Given the description of an element on the screen output the (x, y) to click on. 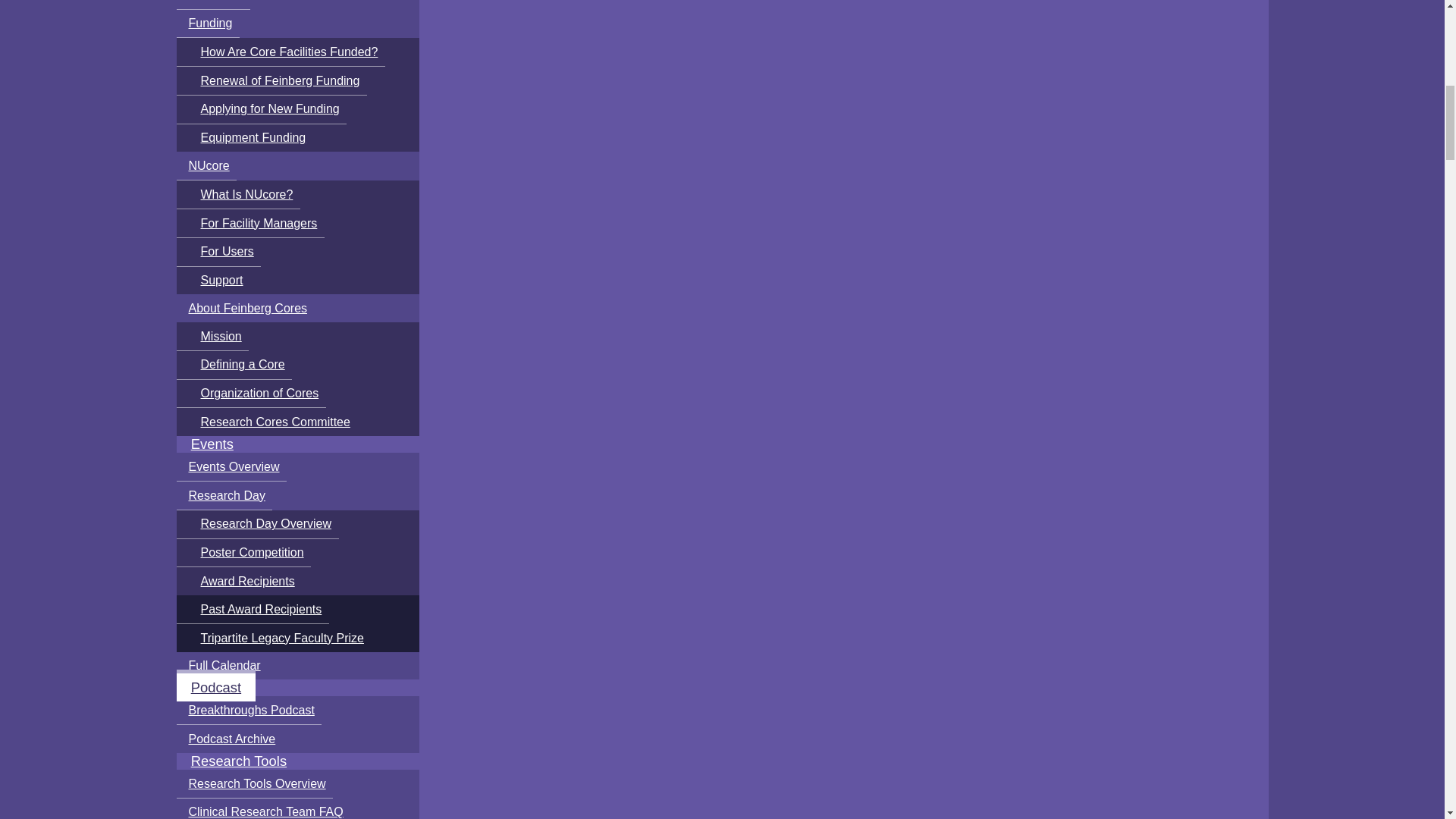
Cores List (213, 4)
Renewal of Feinberg Funding (271, 80)
Applying for New Funding (261, 109)
Equipment Funding (244, 138)
Funding (207, 23)
How Are Core Facilities Funded? (280, 51)
